Given the description of an element on the screen output the (x, y) to click on. 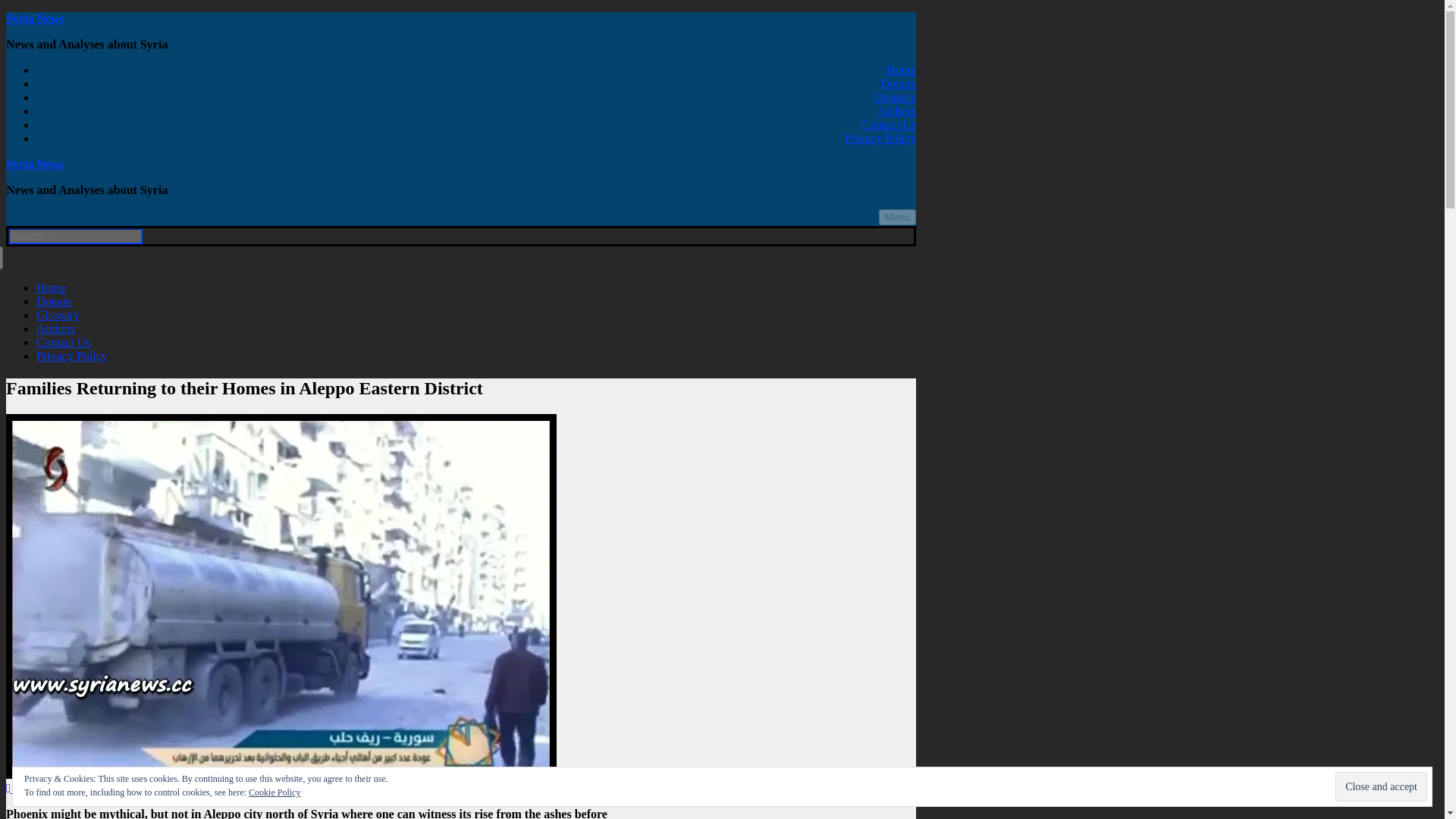
Privacy Policy (71, 355)
February 21, 2017 (54, 788)
Menu (897, 217)
Authors (895, 110)
Home (50, 287)
Donate (897, 83)
Syria News (34, 164)
Authors (55, 328)
Contact Us (63, 341)
